Given the description of an element on the screen output the (x, y) to click on. 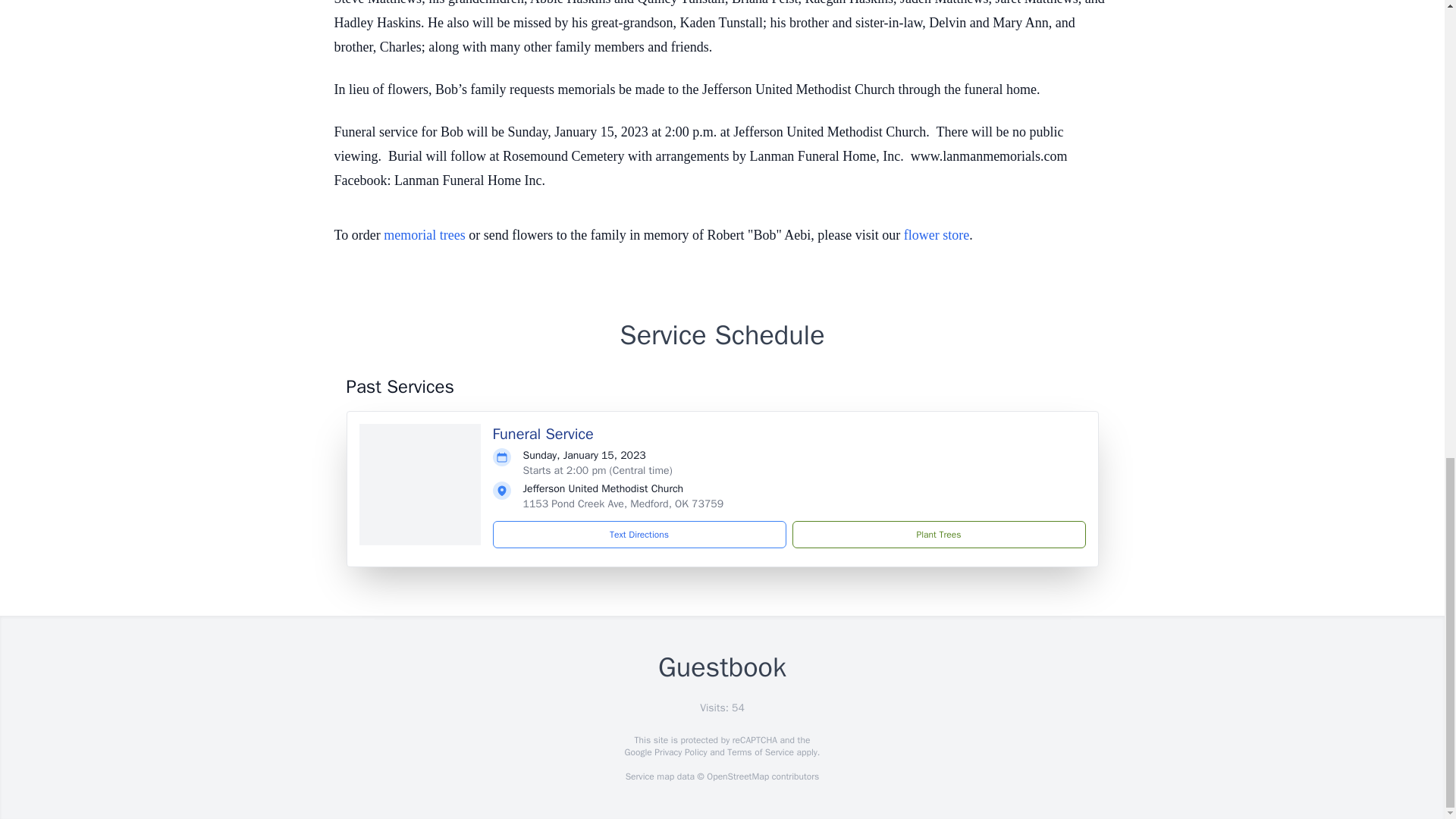
Text Directions (639, 533)
Plant Trees (938, 533)
Privacy Policy (679, 752)
memorial trees (424, 234)
OpenStreetMap (737, 776)
Terms of Service (759, 752)
1153 Pond Creek Ave, Medford, OK 73759 (622, 503)
flower store (936, 234)
